Given the description of an element on the screen output the (x, y) to click on. 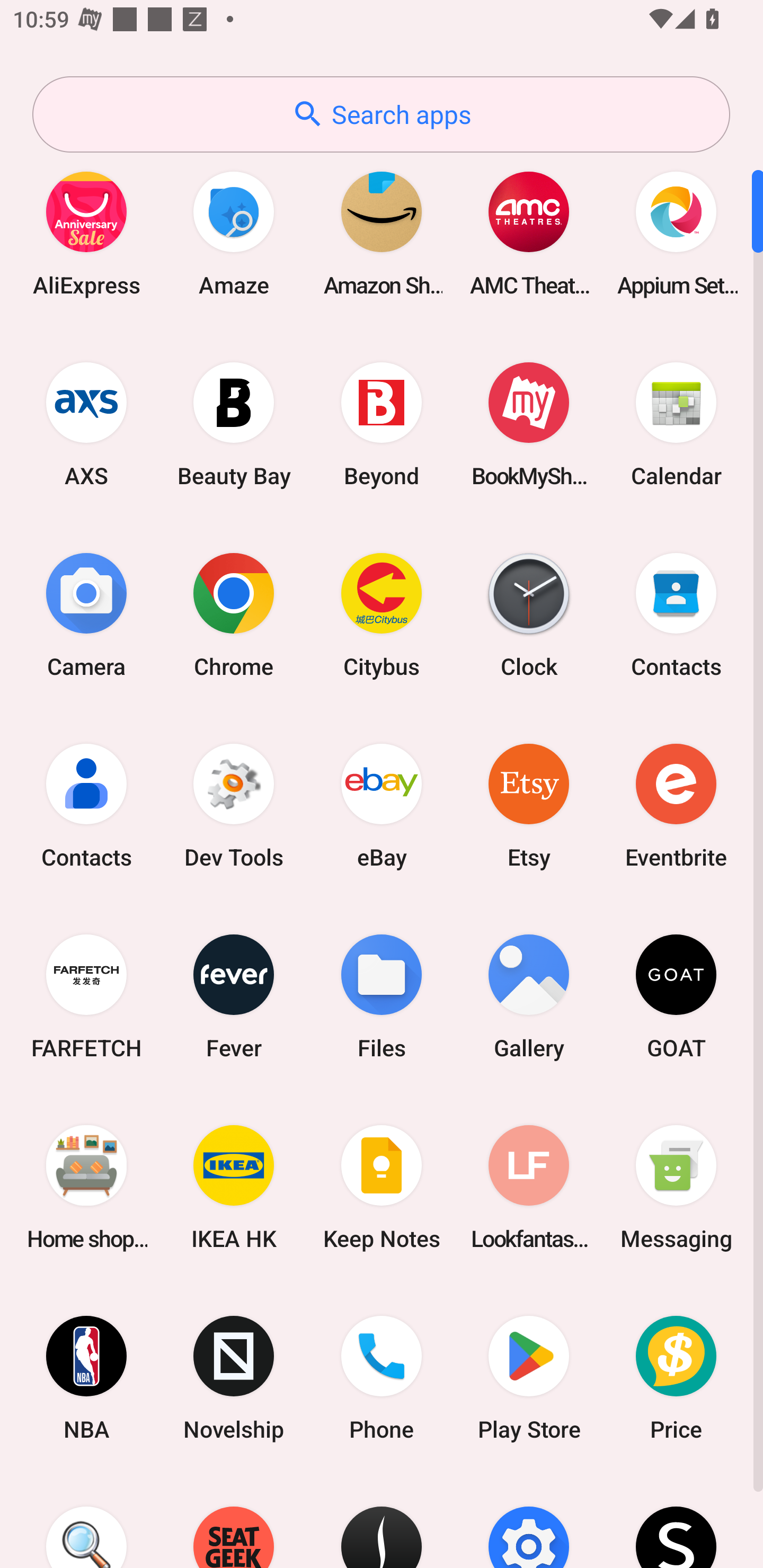
  Search apps (381, 114)
AliExpress (86, 233)
Amaze (233, 233)
Amazon Shopping (381, 233)
AMC Theatres (528, 233)
Appium Settings (676, 233)
AXS (86, 424)
Beauty Bay (233, 424)
Beyond (381, 424)
BookMyShow (528, 424)
Calendar (676, 424)
Camera (86, 614)
Chrome (233, 614)
Citybus (381, 614)
Clock (528, 614)
Contacts (676, 614)
Contacts (86, 805)
Dev Tools (233, 805)
eBay (381, 805)
Etsy (528, 805)
Eventbrite (676, 805)
FARFETCH (86, 996)
Fever (233, 996)
Files (381, 996)
Gallery (528, 996)
GOAT (676, 996)
Home shopping (86, 1186)
IKEA HK (233, 1186)
Keep Notes (381, 1186)
Lookfantastic (528, 1186)
Messaging (676, 1186)
NBA (86, 1377)
Novelship (233, 1377)
Phone (381, 1377)
Play Store (528, 1377)
Price (676, 1377)
